Given the description of an element on the screen output the (x, y) to click on. 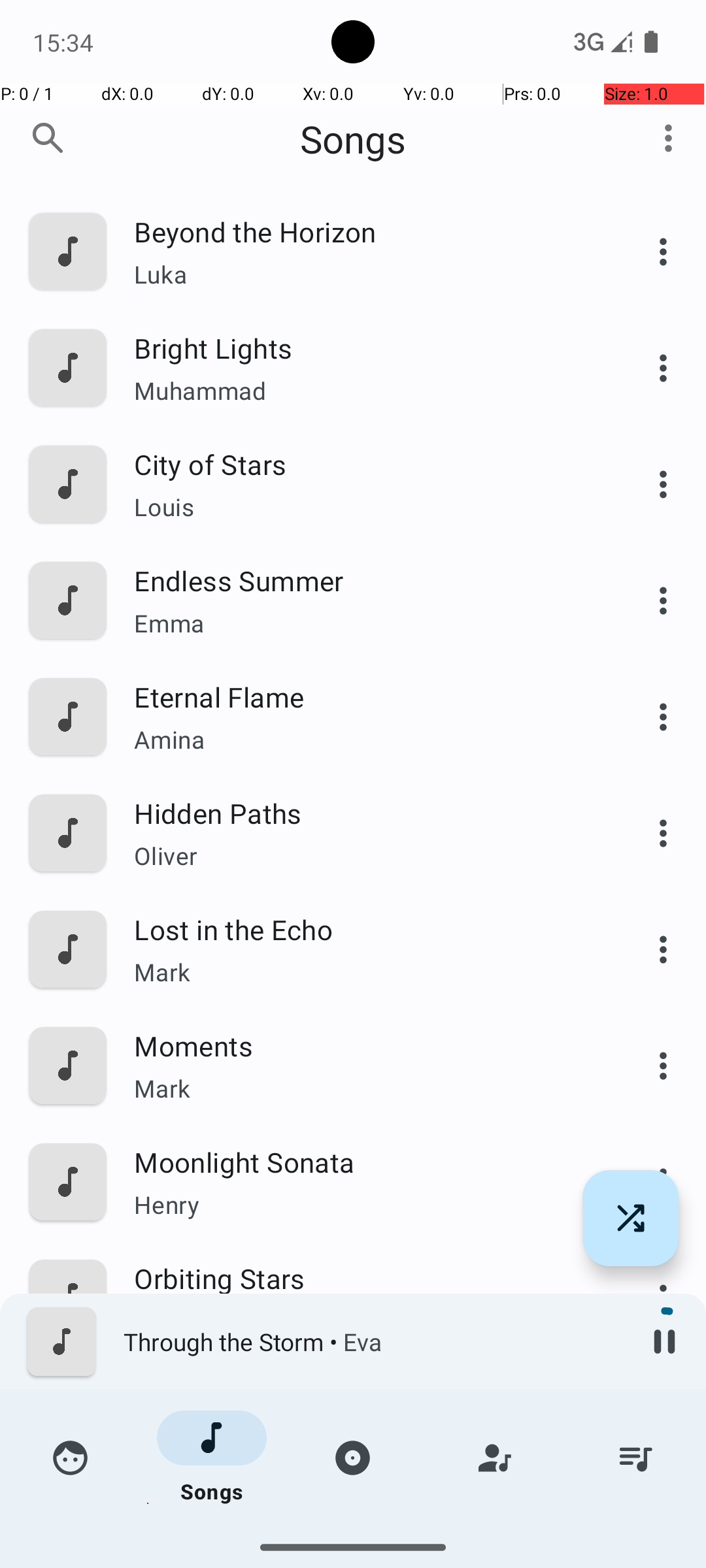
Through the Storm • Eva Element type: android.widget.TextView (372, 1341)
Beyond the Horizon Element type: android.widget.TextView (363, 231)
Luka Element type: android.widget.TextView (363, 273)
Bright Lights Element type: android.widget.TextView (363, 347)
Muhammad Element type: android.widget.TextView (363, 390)
City of Stars Element type: android.widget.TextView (363, 463)
Louis Element type: android.widget.TextView (363, 506)
Endless Summer Element type: android.widget.TextView (363, 580)
Emma Element type: android.widget.TextView (363, 622)
Eternal Flame Element type: android.widget.TextView (363, 696)
Amina Element type: android.widget.TextView (363, 738)
Hidden Paths Element type: android.widget.TextView (363, 812)
Oliver Element type: android.widget.TextView (363, 855)
Lost in the Echo Element type: android.widget.TextView (363, 928)
Mark Element type: android.widget.TextView (363, 971)
Moments Element type: android.widget.TextView (363, 1045)
Moonlight Sonata Element type: android.widget.TextView (363, 1161)
Henry Element type: android.widget.TextView (363, 1204)
Orbiting Stars Element type: android.widget.TextView (363, 1277)
Alejandro Element type: android.widget.TextView (363, 1320)
Path to Zenith Element type: android.widget.TextView (363, 1394)
Matteo Element type: android.widget.TextView (363, 1436)
Rising Sun Element type: android.widget.TextView (363, 1510)
Noah Element type: android.widget.TextView (363, 1538)
